Given the description of an element on the screen output the (x, y) to click on. 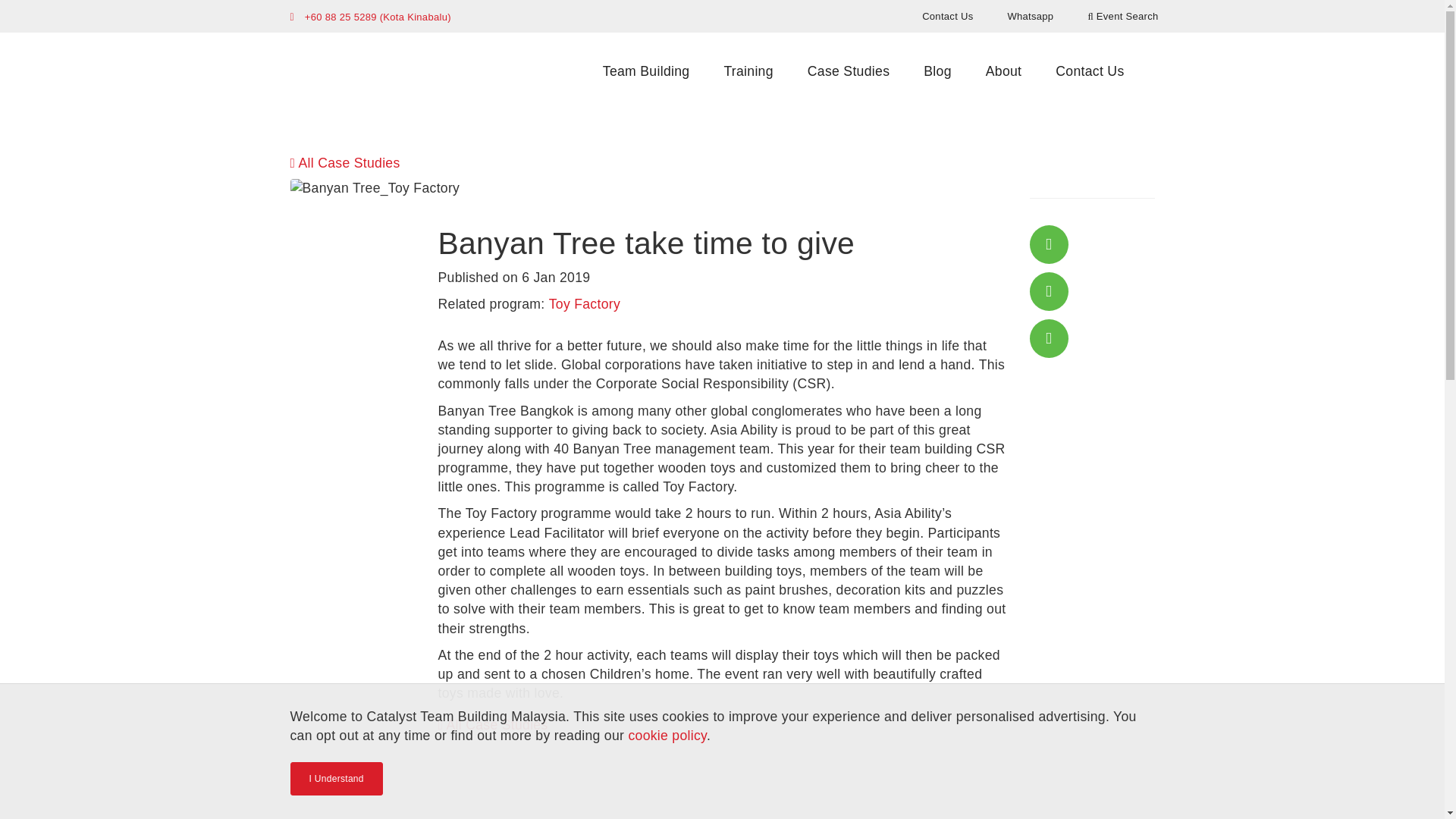
Blog (937, 71)
cookie policy (666, 735)
I Understand (335, 778)
All Case Studies (493, 724)
About (1003, 71)
Contact Us (1089, 71)
Training (747, 71)
Toy Factory (584, 304)
All Case Studies (343, 162)
Whatsapp (1029, 15)
Event Search (1122, 15)
Contact Us (947, 15)
Team Building (646, 71)
Case Studies (848, 71)
